Given the description of an element on the screen output the (x, y) to click on. 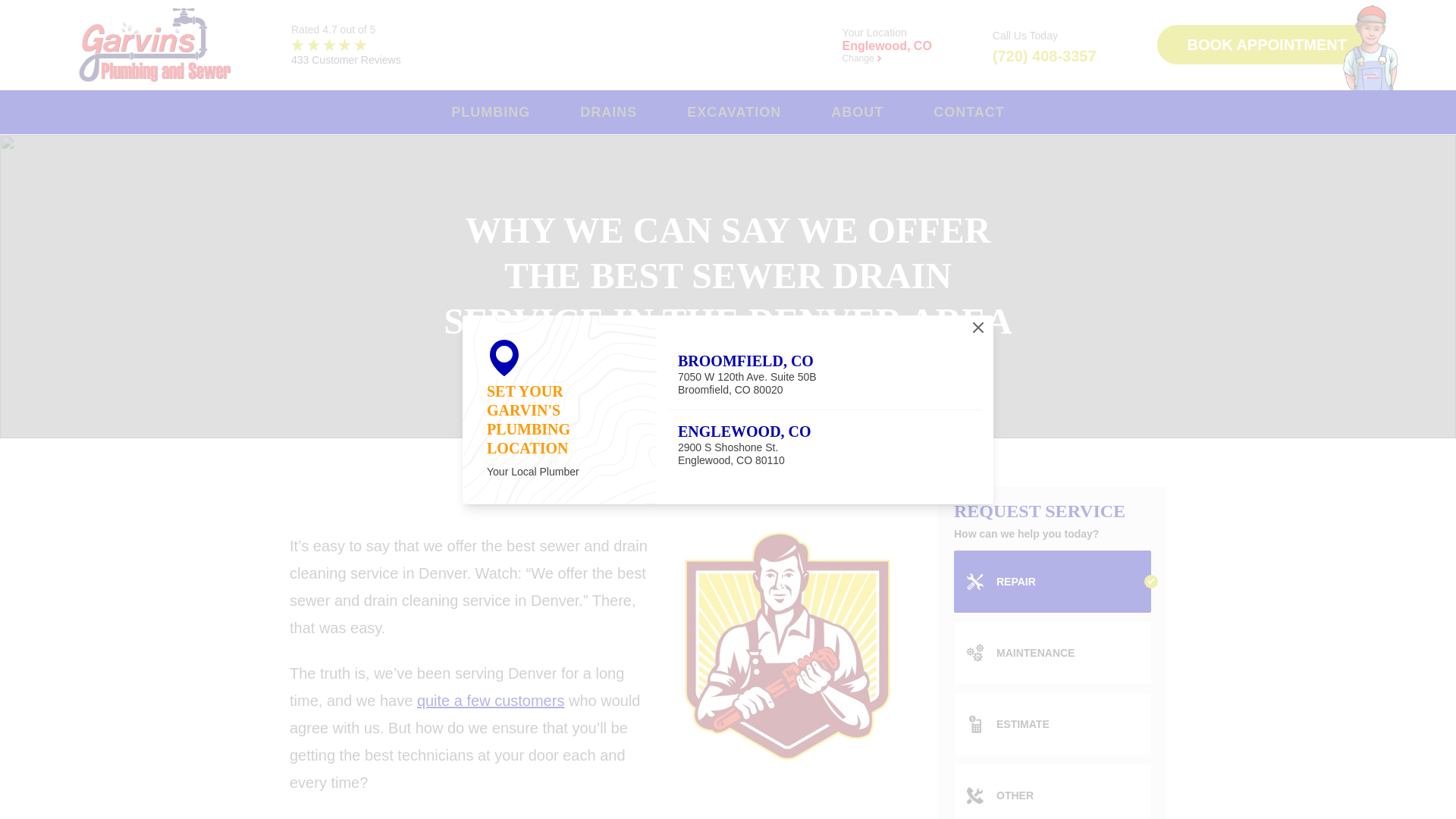
PLUMBING (497, 111)
BOOK APPOINTMENT (1275, 44)
